Given the description of an element on the screen output the (x, y) to click on. 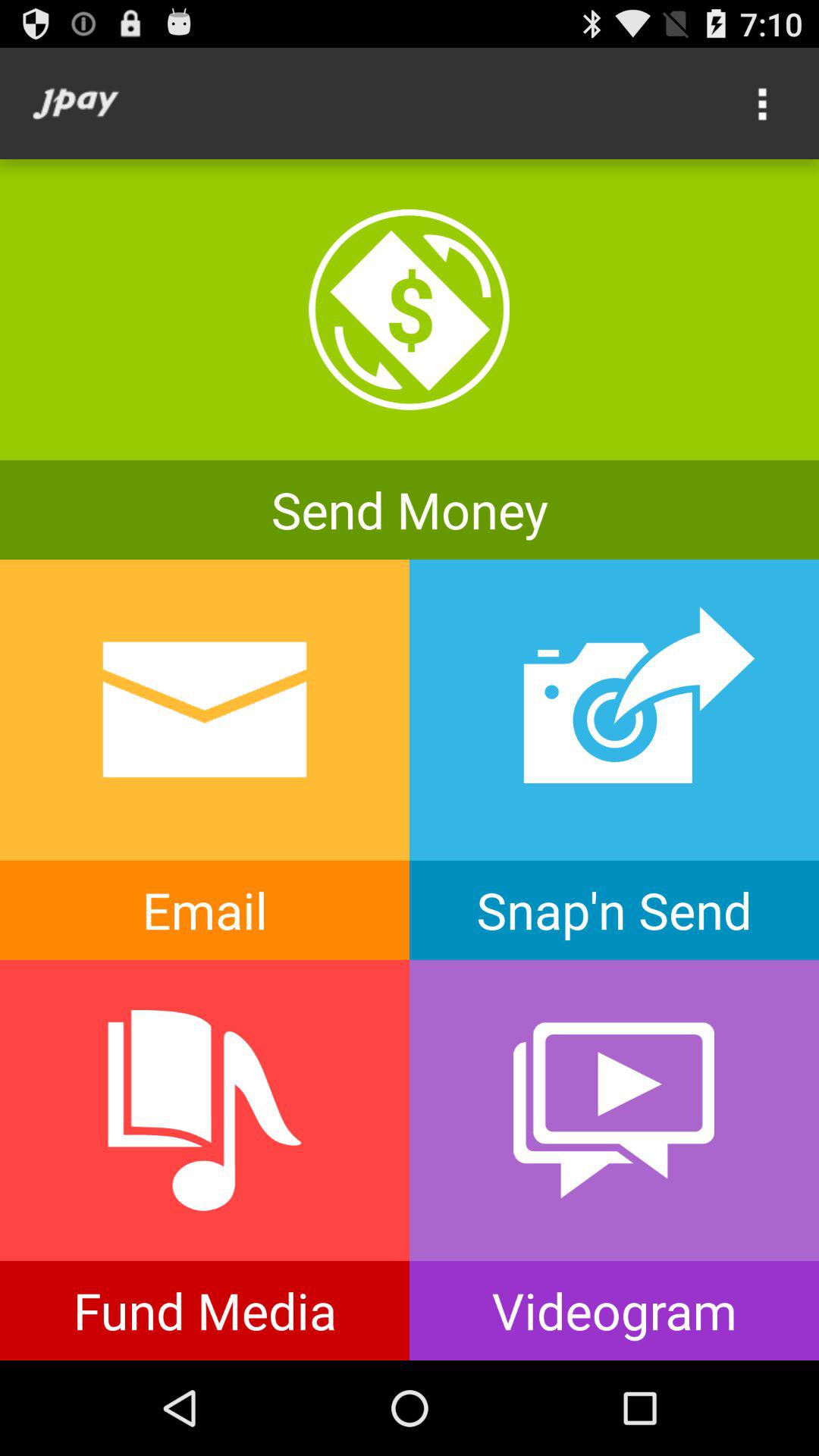
select videogram (614, 1160)
